Given the description of an element on the screen output the (x, y) to click on. 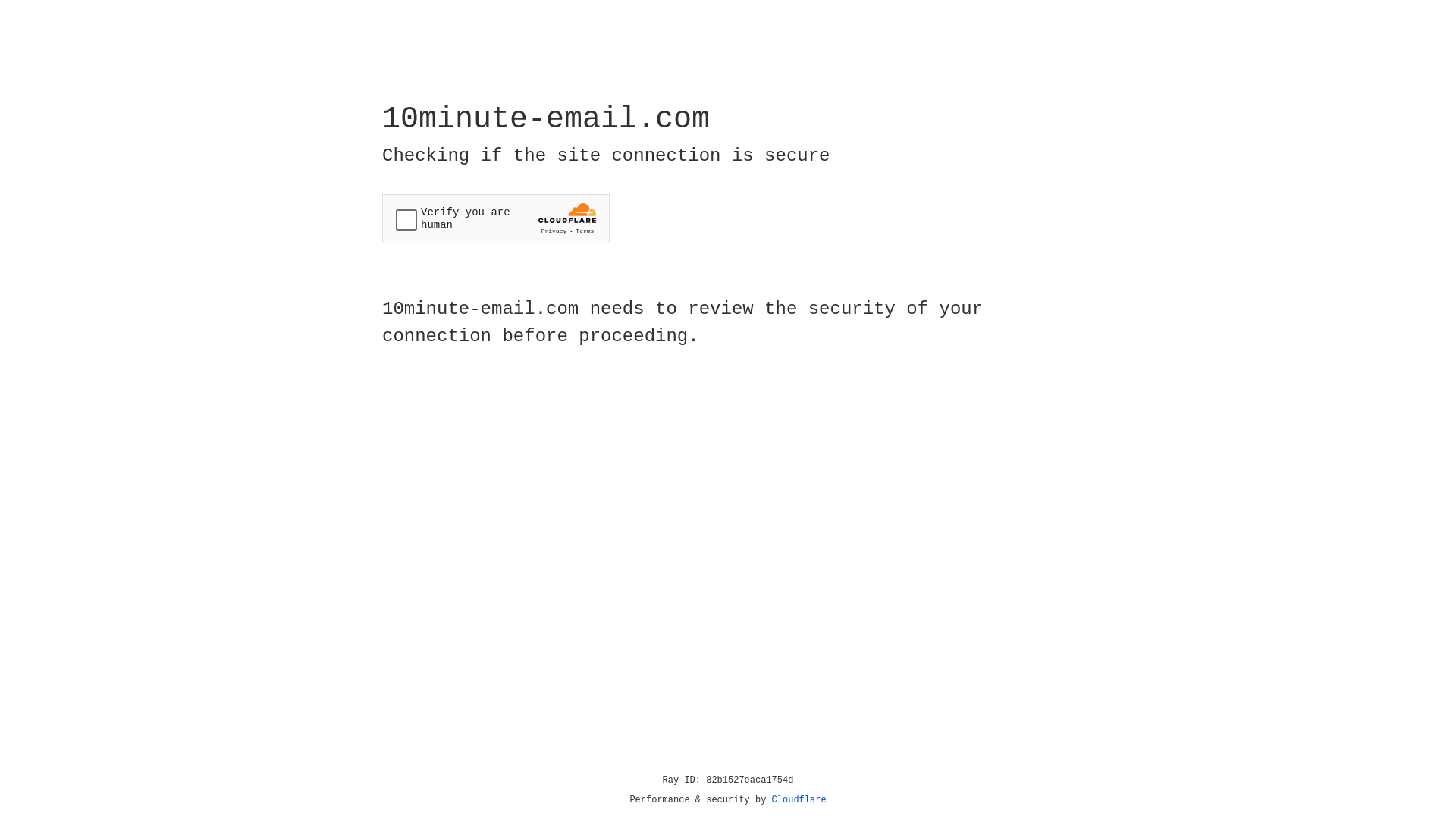
Cloudflare Element type: text (798, 799)
Widget containing a Cloudflare security challenge Element type: hover (495, 218)
